Given the description of an element on the screen output the (x, y) to click on. 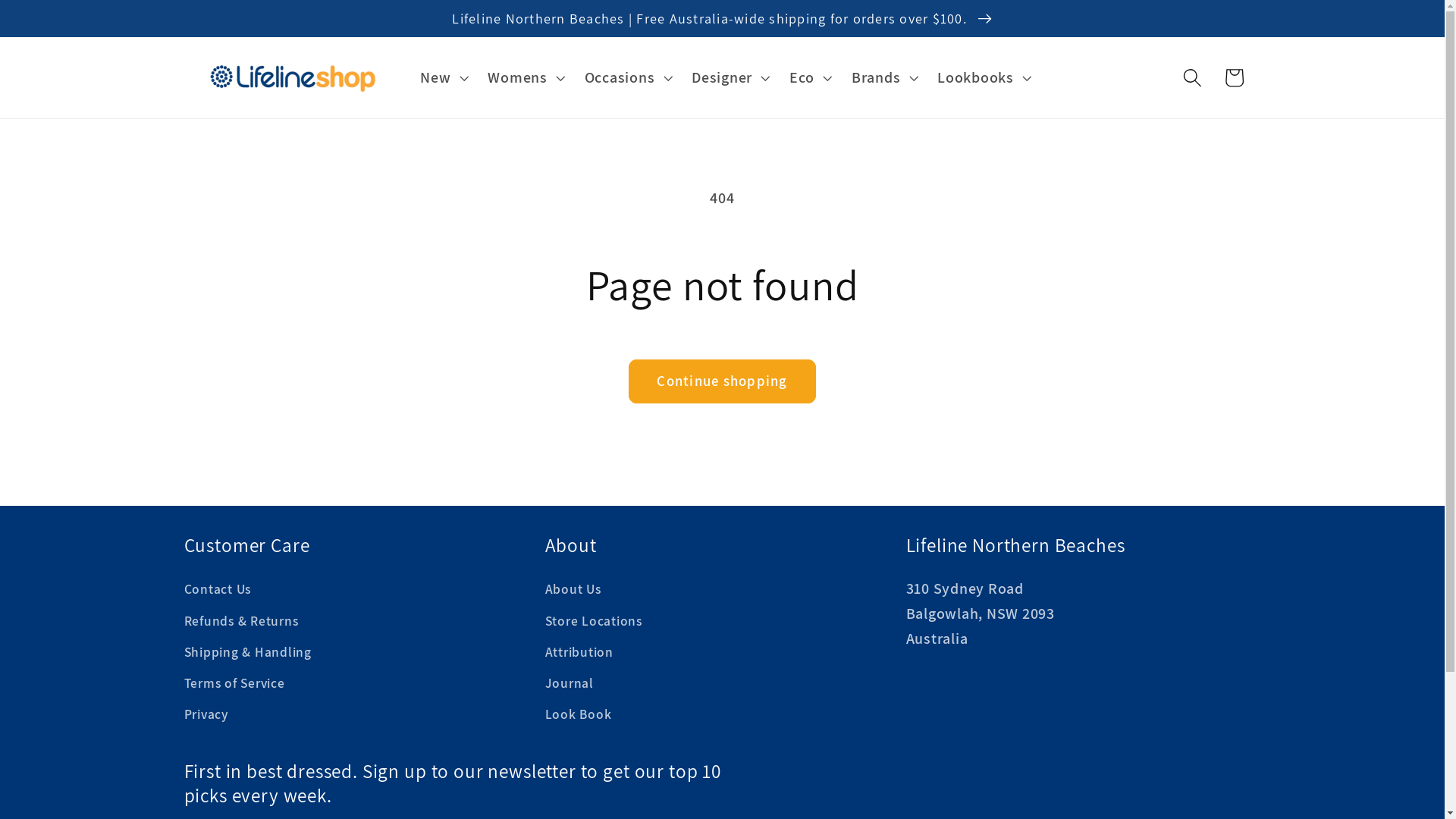
Refunds & Returns Element type: text (240, 620)
Continue shopping Element type: text (721, 381)
Attribution Element type: text (578, 652)
Look Book Element type: text (577, 714)
Terms of Service Element type: text (233, 683)
Journal Element type: text (568, 683)
About Us Element type: text (572, 591)
Store Locations Element type: text (592, 620)
Shipping & Handling Element type: text (246, 652)
Cart Element type: text (1234, 77)
Contact Us Element type: text (217, 591)
Privacy Element type: text (205, 714)
